Given the description of an element on the screen output the (x, y) to click on. 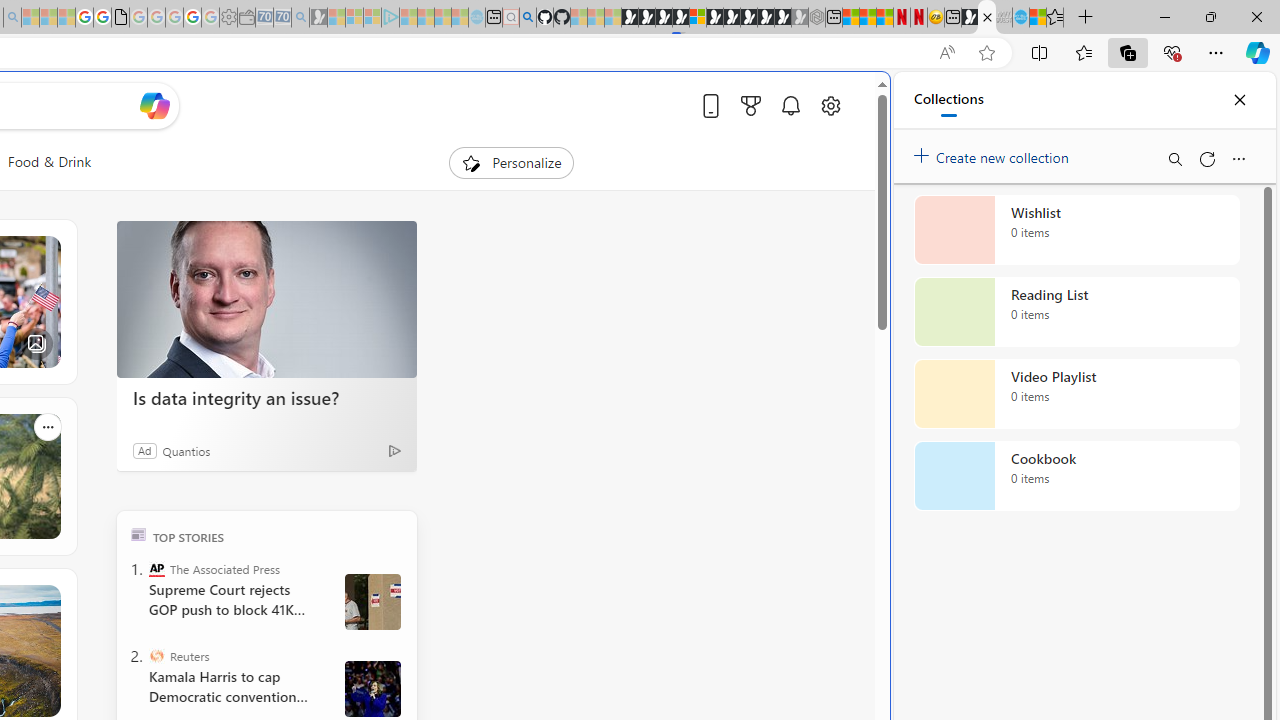
Frequently visited (418, 265)
Is data integrity an issue? (266, 397)
TOP (138, 534)
